Given the description of an element on the screen output the (x, y) to click on. 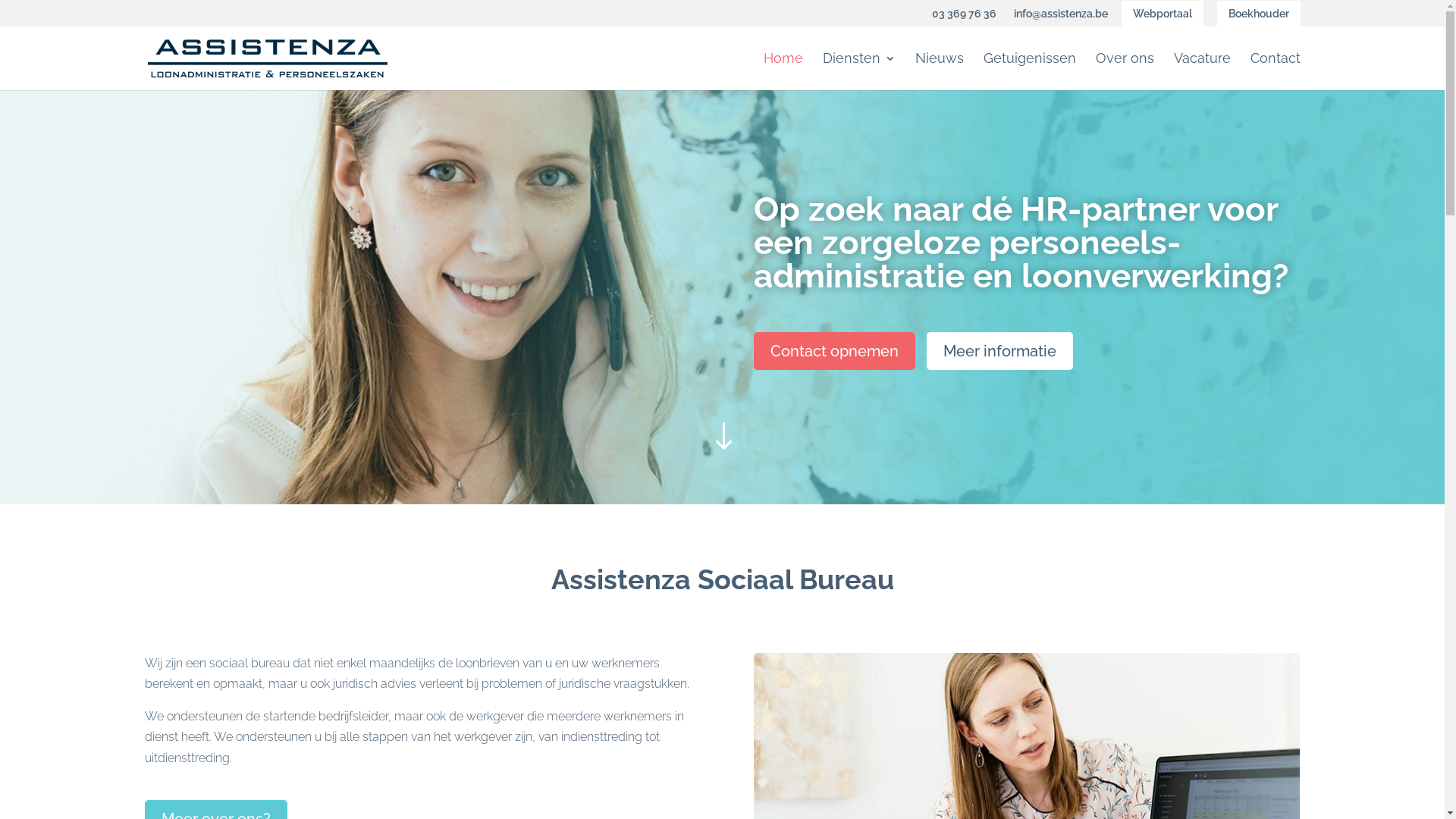
" Element type: text (721, 442)
Contact opnemen Element type: text (834, 351)
Boekhouder Element type: text (1257, 16)
Getuigenissen Element type: text (1028, 71)
Webportaal Element type: text (1161, 16)
info@assistenza.be Element type: text (1058, 16)
03 369 76 36 Element type: text (962, 16)
Meer informatie Element type: text (999, 351)
Vacature Element type: text (1201, 71)
Over ons Element type: text (1124, 71)
Contact Element type: text (1274, 71)
Diensten Element type: text (858, 71)
Nieuws Element type: text (938, 71)
Home Element type: text (782, 71)
